Given the description of an element on the screen output the (x, y) to click on. 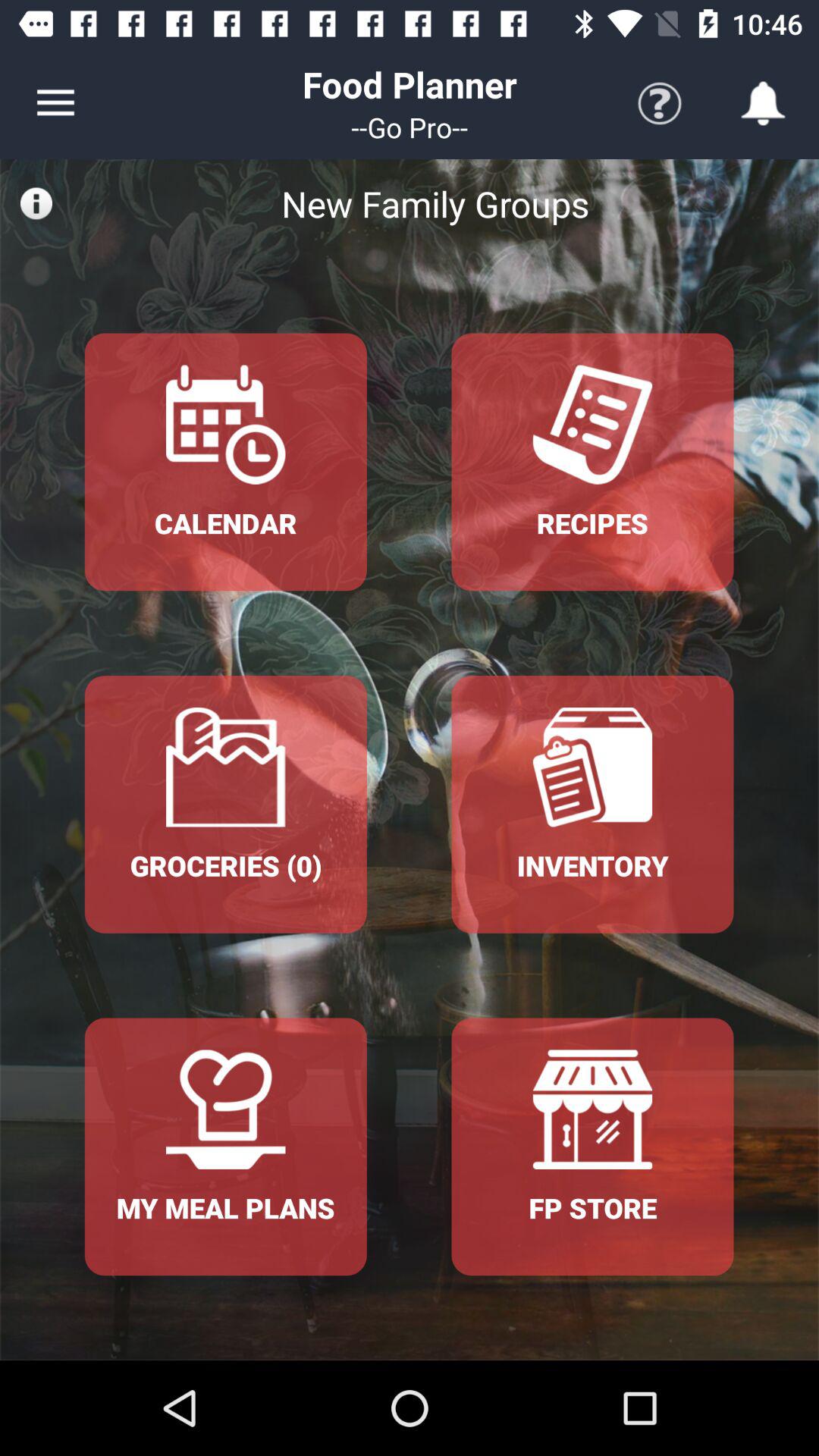
click on the groceries icon which is below the calendar icon (225, 804)
click on info icon (36, 203)
click on the fp store option (592, 1146)
